Given the description of an element on the screen output the (x, y) to click on. 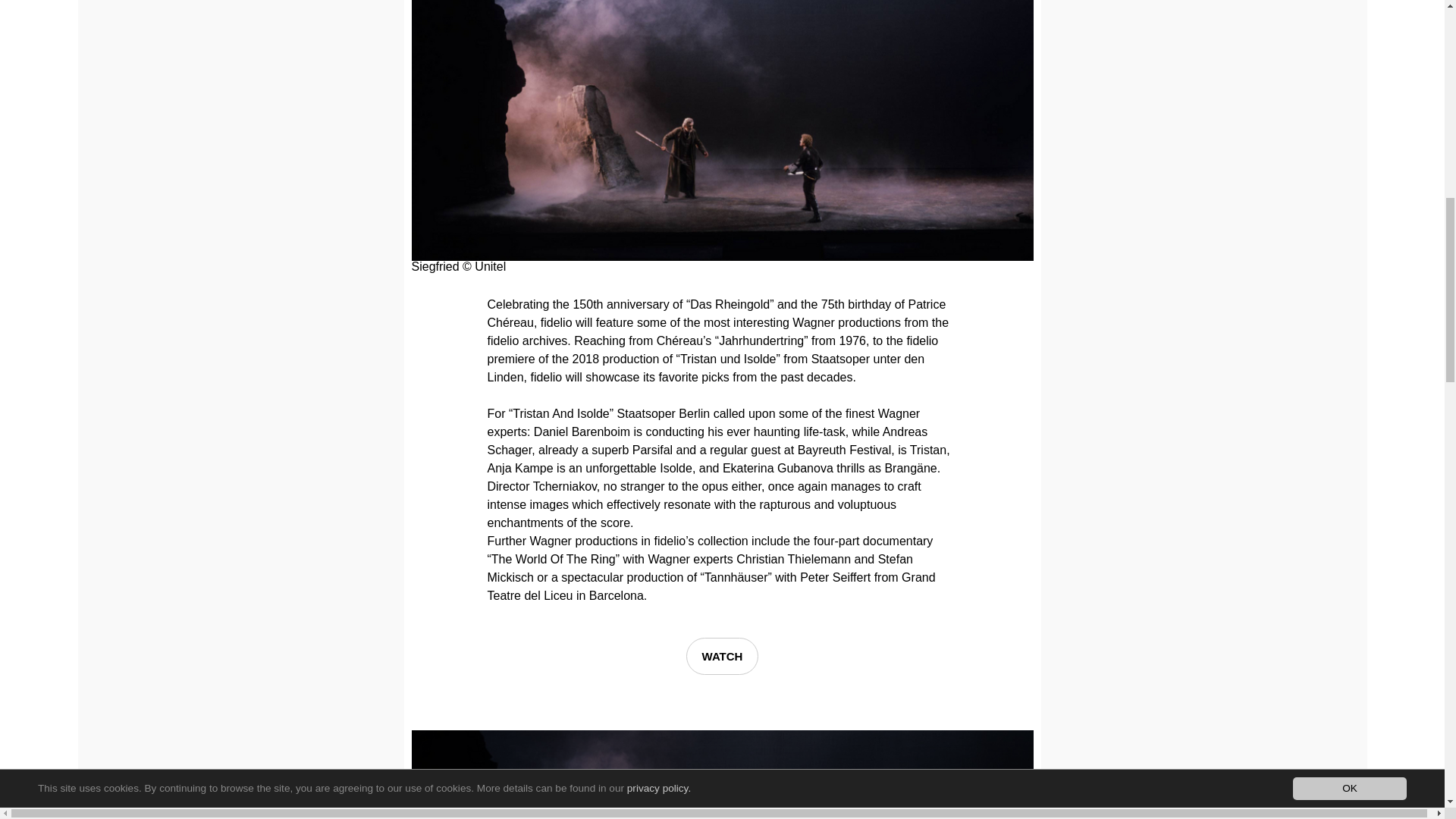
WATCH (721, 656)
